Given the description of an element on the screen output the (x, y) to click on. 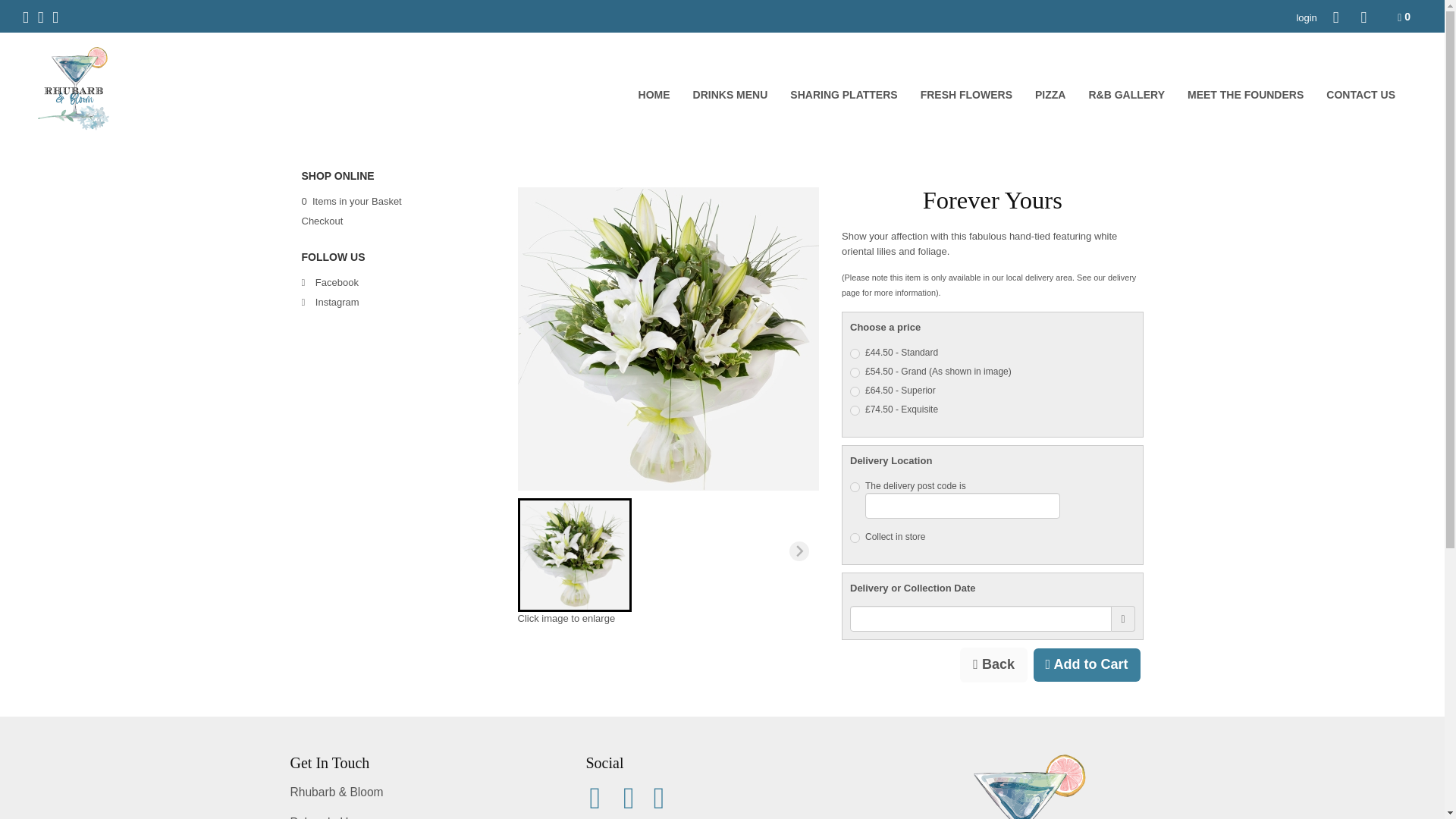
PIZZA (1050, 94)
Home (654, 94)
Fresh Flowers (965, 94)
Checkout (322, 220)
SHARING PLATTERS (843, 94)
Drinks Menu (729, 94)
FRESH FLOWERS (965, 94)
Pizza (1050, 94)
CONTACT US (1360, 94)
1 (855, 487)
HOME (654, 94)
44.50 (855, 353)
64.50 (855, 391)
login (1305, 17)
3 (855, 537)
